Given the description of an element on the screen output the (x, y) to click on. 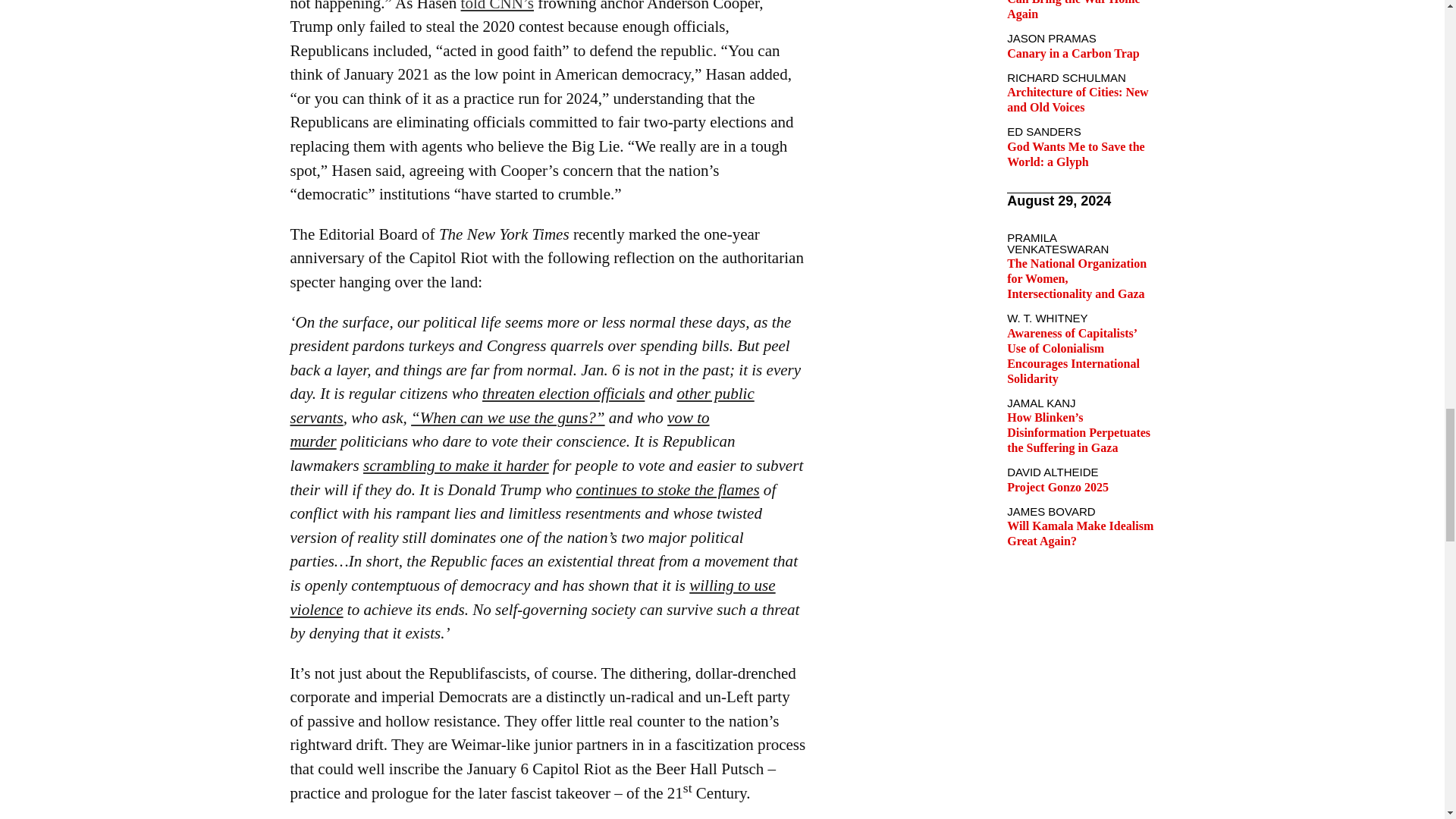
threaten election officials (563, 393)
other public servants (521, 405)
willing to use violence (531, 597)
scrambling to make it harder (455, 465)
continues to stoke the flames (668, 489)
vow to murder (499, 429)
